Given the description of an element on the screen output the (x, y) to click on. 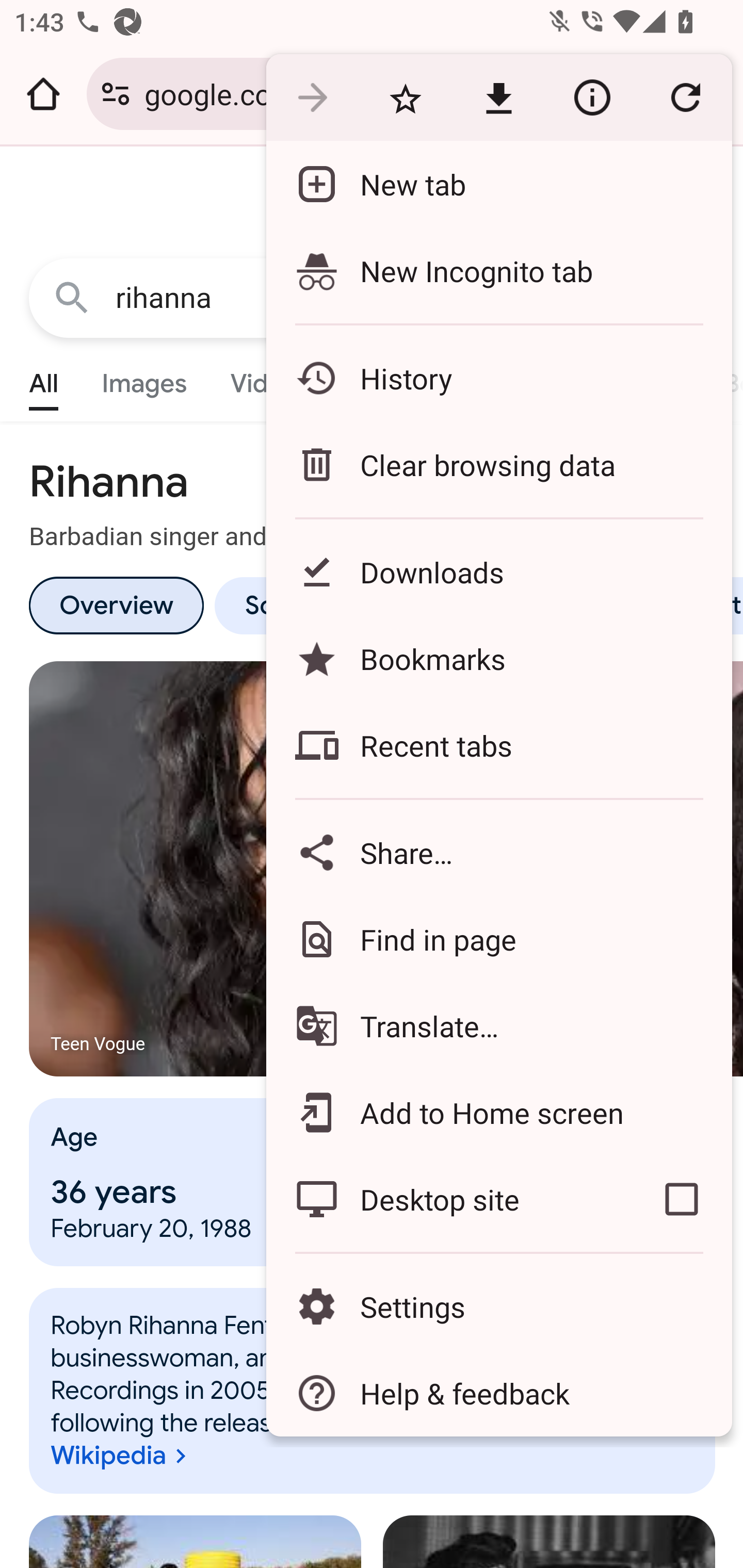
Forward (311, 97)
Bookmark (404, 97)
Download (498, 97)
Page info (591, 97)
Refresh (684, 97)
New tab (498, 184)
New Incognito tab (498, 270)
History (498, 377)
Clear browsing data (498, 464)
Downloads (498, 571)
Bookmarks (498, 658)
Recent tabs (498, 745)
Share… (498, 852)
Find in page (498, 939)
Translate… (498, 1026)
Add to Home screen (498, 1112)
Desktop site Turn on Request desktop site (447, 1198)
Settings (498, 1306)
Help & feedback (498, 1393)
